Given the description of an element on the screen output the (x, y) to click on. 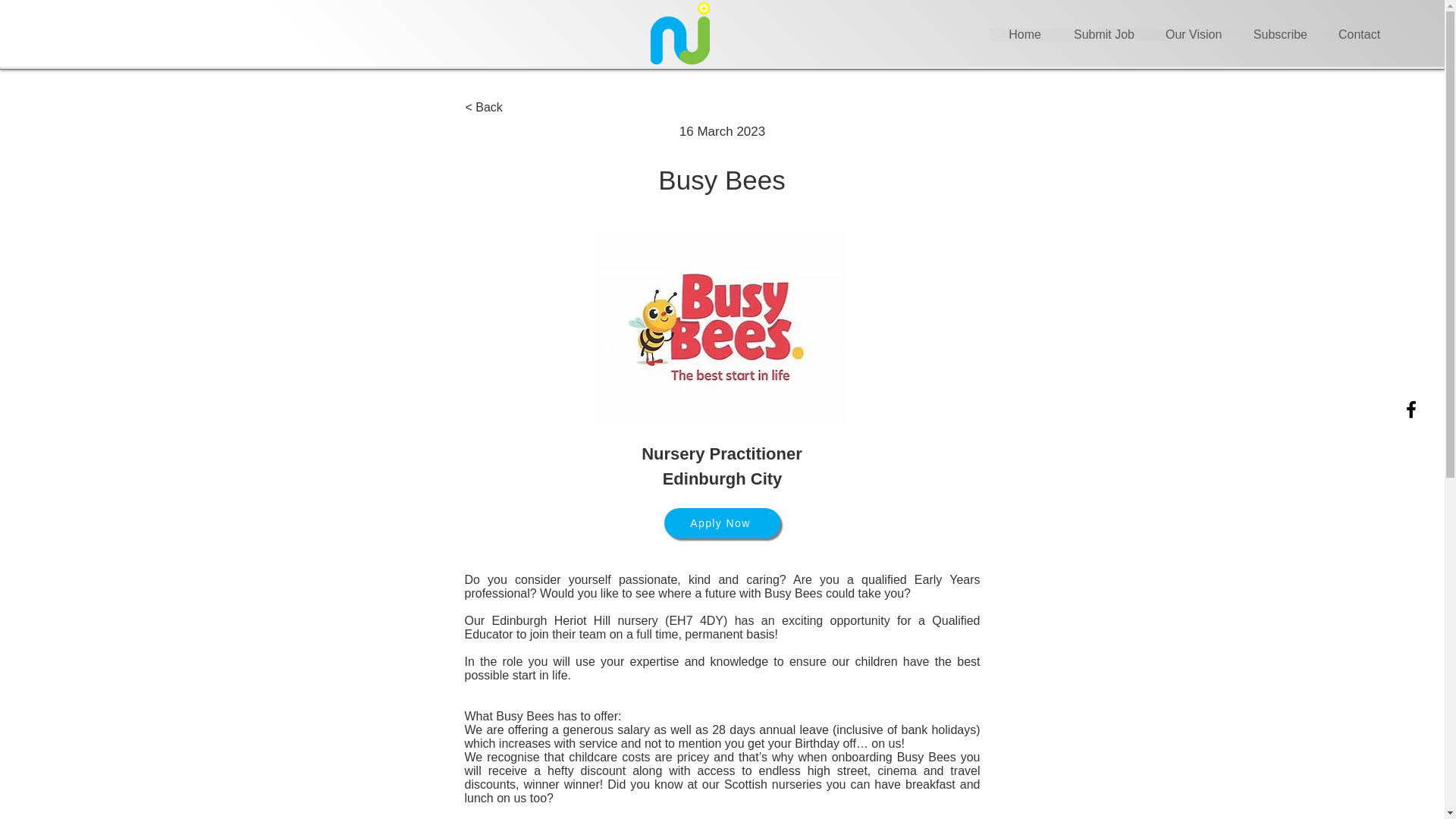
Submit Job (1103, 34)
Subscribe (1279, 34)
Contact (1358, 34)
Busy Bees.jpg (721, 327)
Our Vision (1192, 34)
Apply Now (721, 522)
Home (1024, 34)
